Given the description of an element on the screen output the (x, y) to click on. 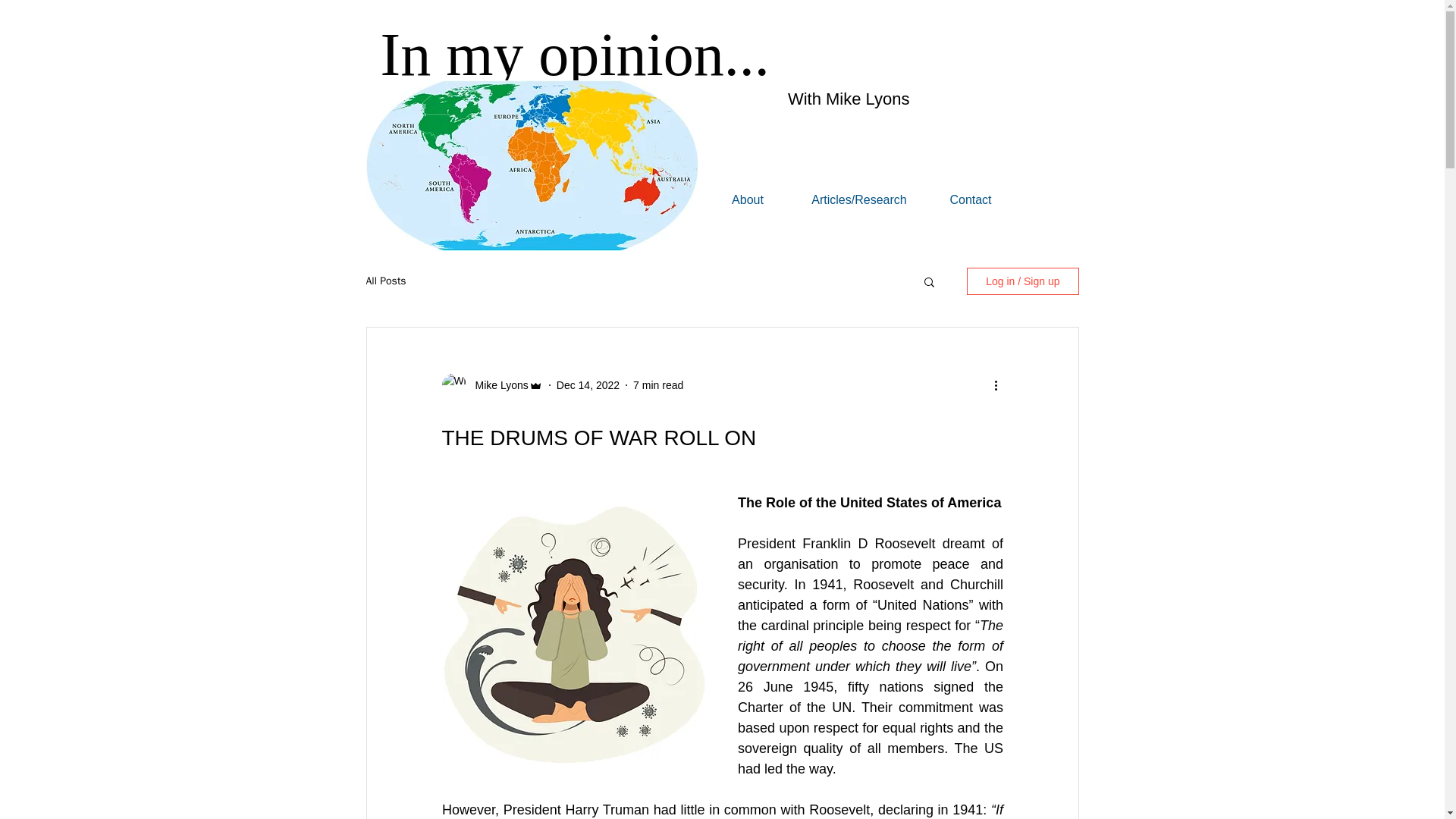
Dec 14, 2022 (588, 385)
Contact (970, 197)
Mike Lyons  (496, 385)
All Posts (385, 281)
About (747, 197)
7 min read (657, 385)
In my opinion... (575, 54)
